Given the description of an element on the screen output the (x, y) to click on. 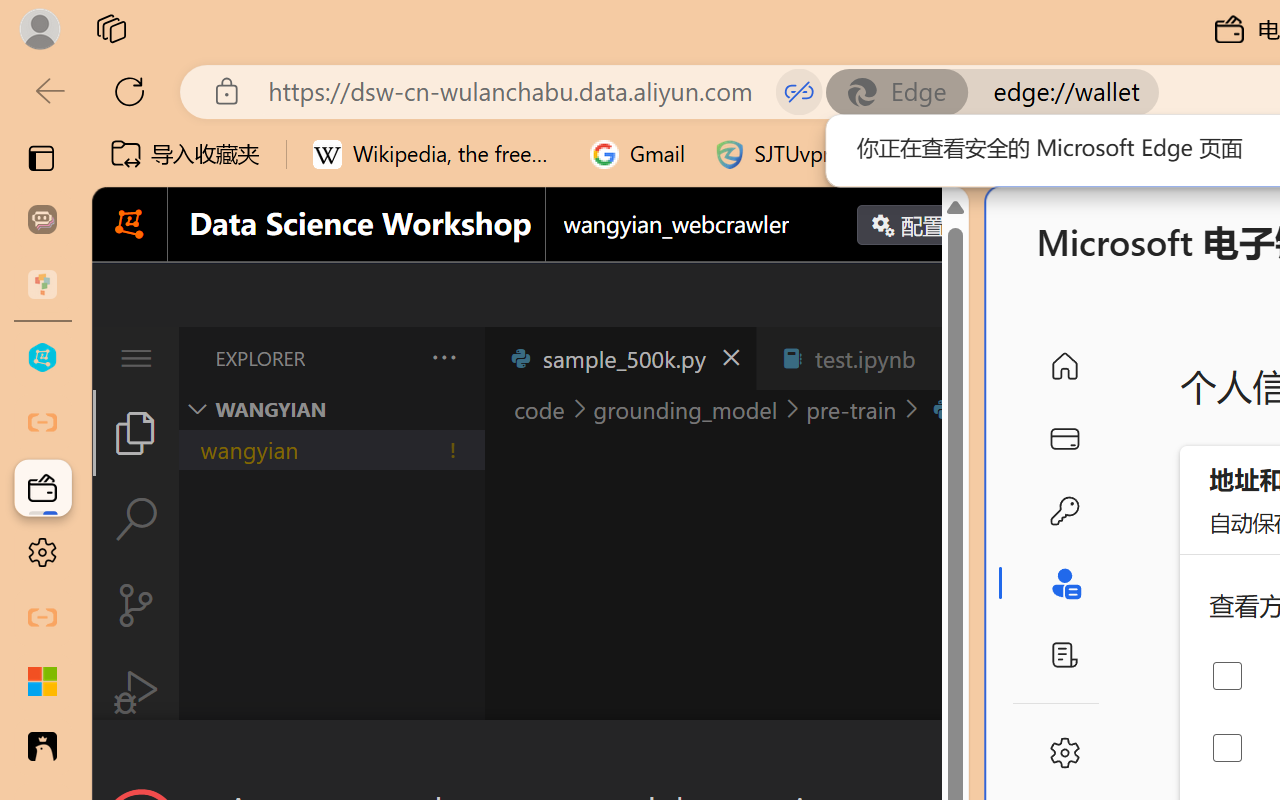
Microsoft security help and learning (42, 681)
Class: actions-container (529, 756)
